Given the description of an element on the screen output the (x, y) to click on. 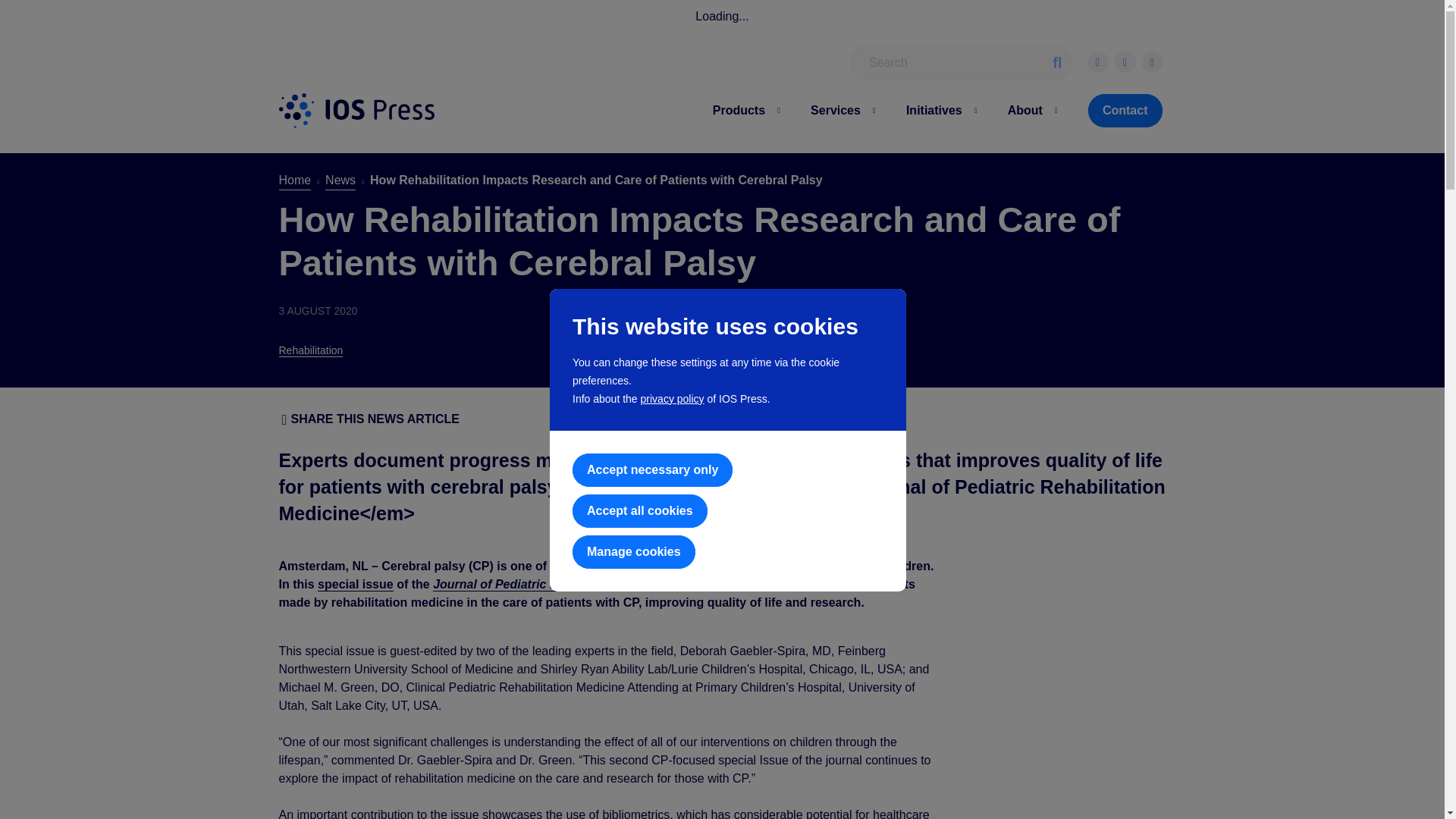
Privacy Policy (672, 398)
News (339, 180)
Twitter (1125, 61)
SHARE THIS NEWS ARTICLE (371, 419)
Services (835, 110)
LinkedIn (1152, 61)
Facebook (1097, 61)
Home (357, 110)
Journal of Pediatric Rehabilitation Medicine (558, 584)
